Given the description of an element on the screen output the (x, y) to click on. 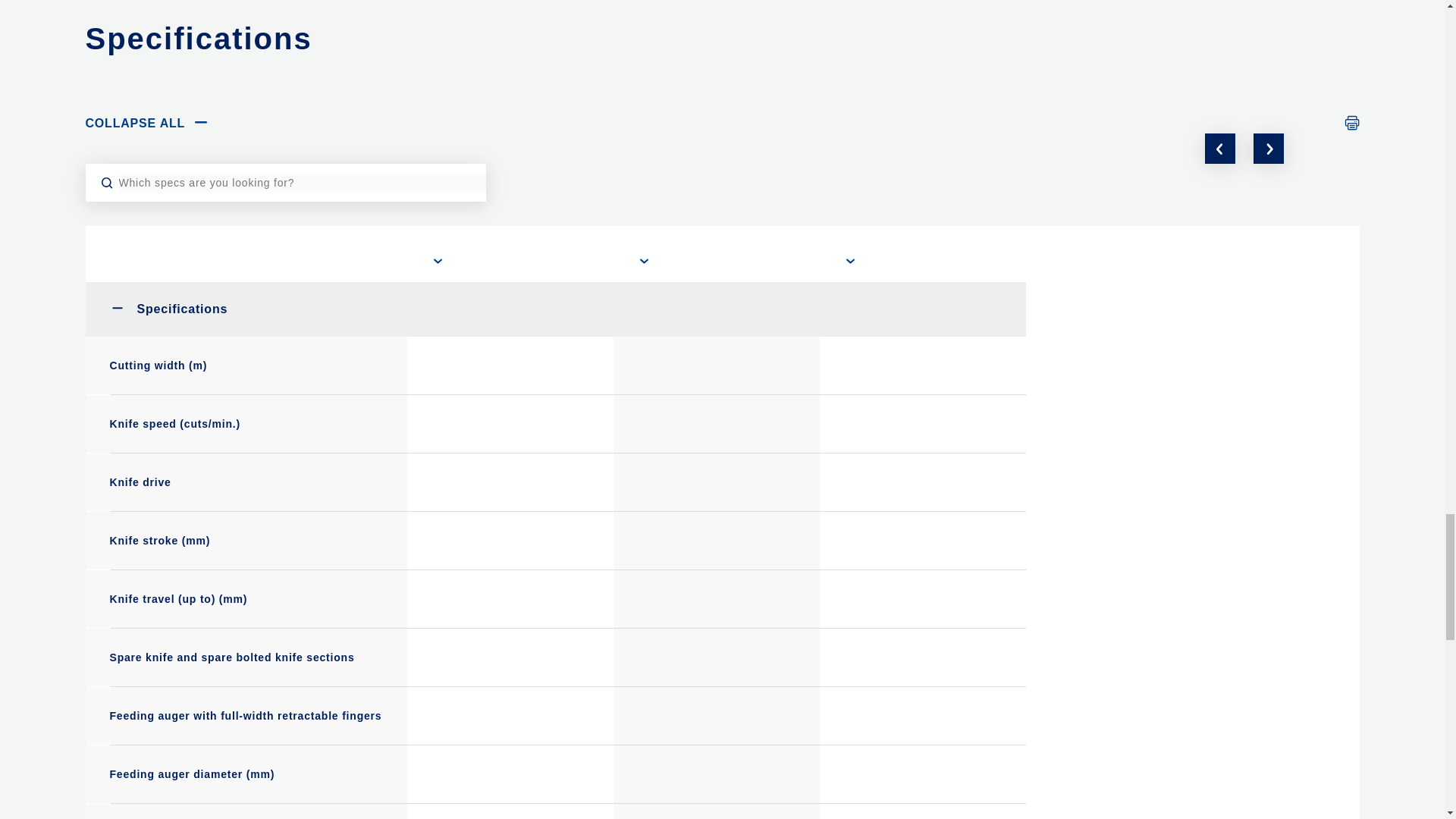
COLLAPSE ALL (146, 124)
